Given the description of an element on the screen output the (x, y) to click on. 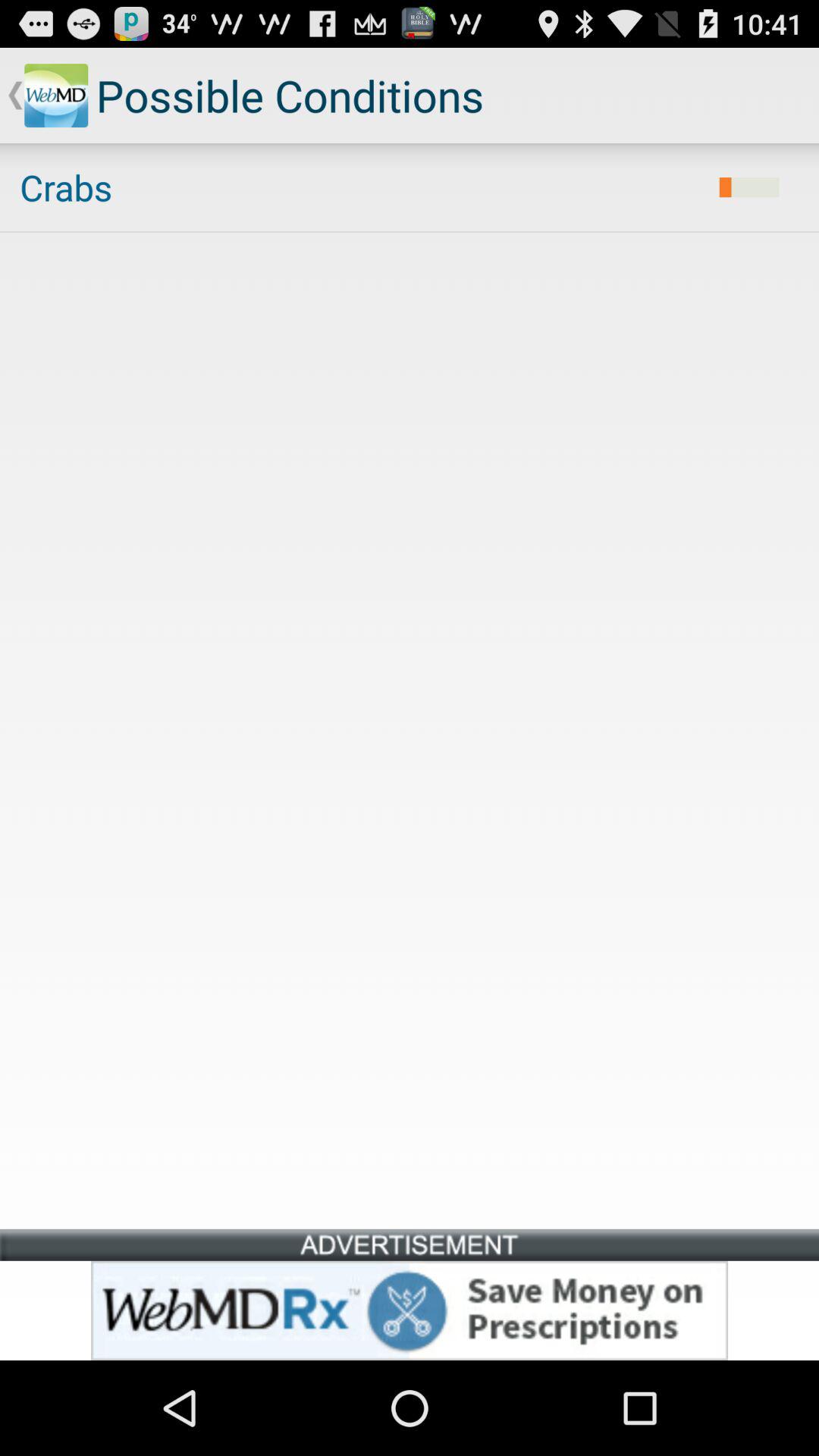
swipe until the crabs (359, 187)
